Given the description of an element on the screen output the (x, y) to click on. 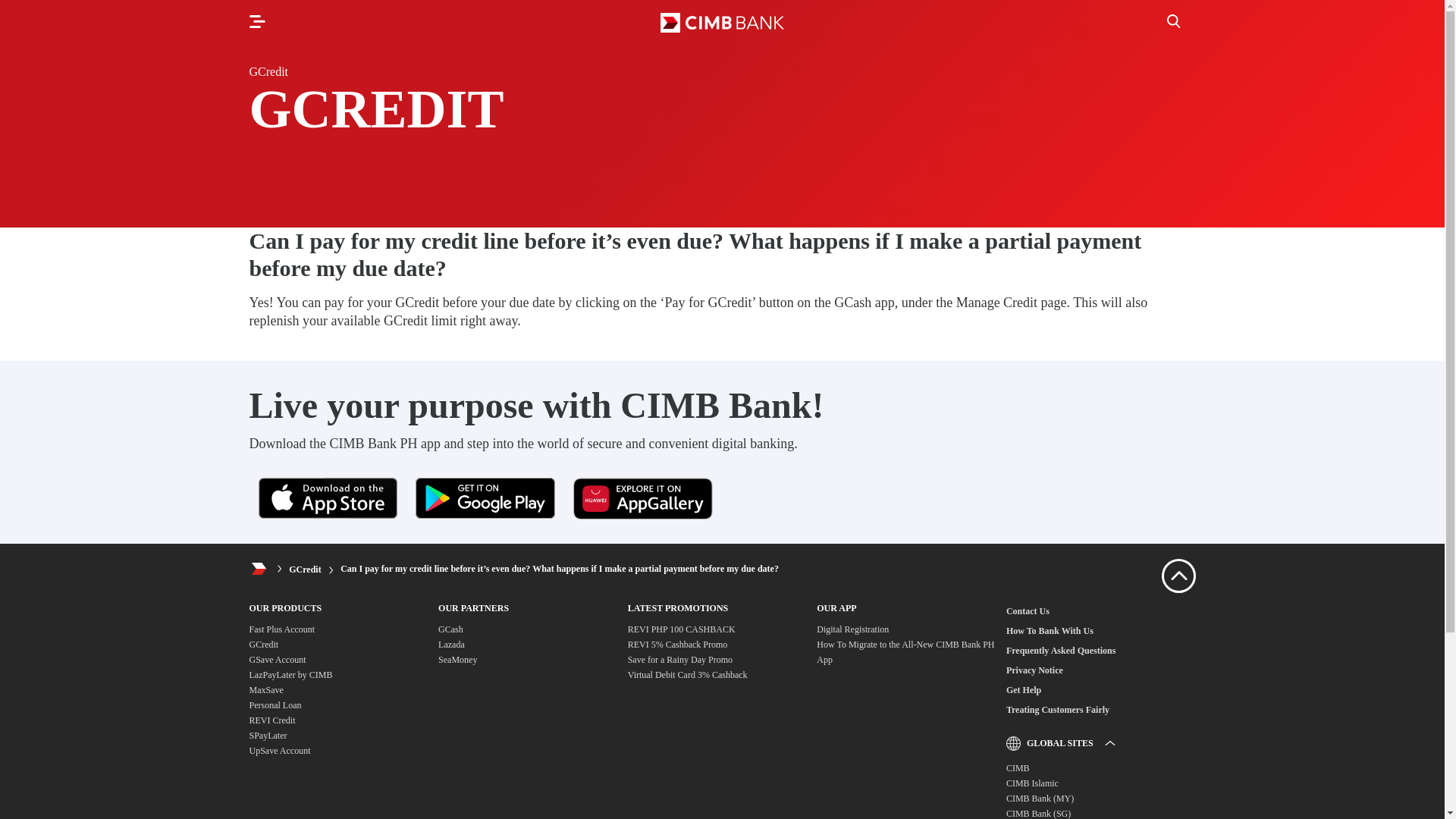
SPayLater (267, 735)
REVI Credit (271, 719)
LazPayLater by CIMB (289, 674)
MaxSave (265, 689)
GSave Account (276, 659)
GCredit (304, 568)
UpSave Account (279, 750)
Personal Loan (274, 705)
GCredit (263, 644)
Fast Plus Account (281, 629)
